Given the description of an element on the screen output the (x, y) to click on. 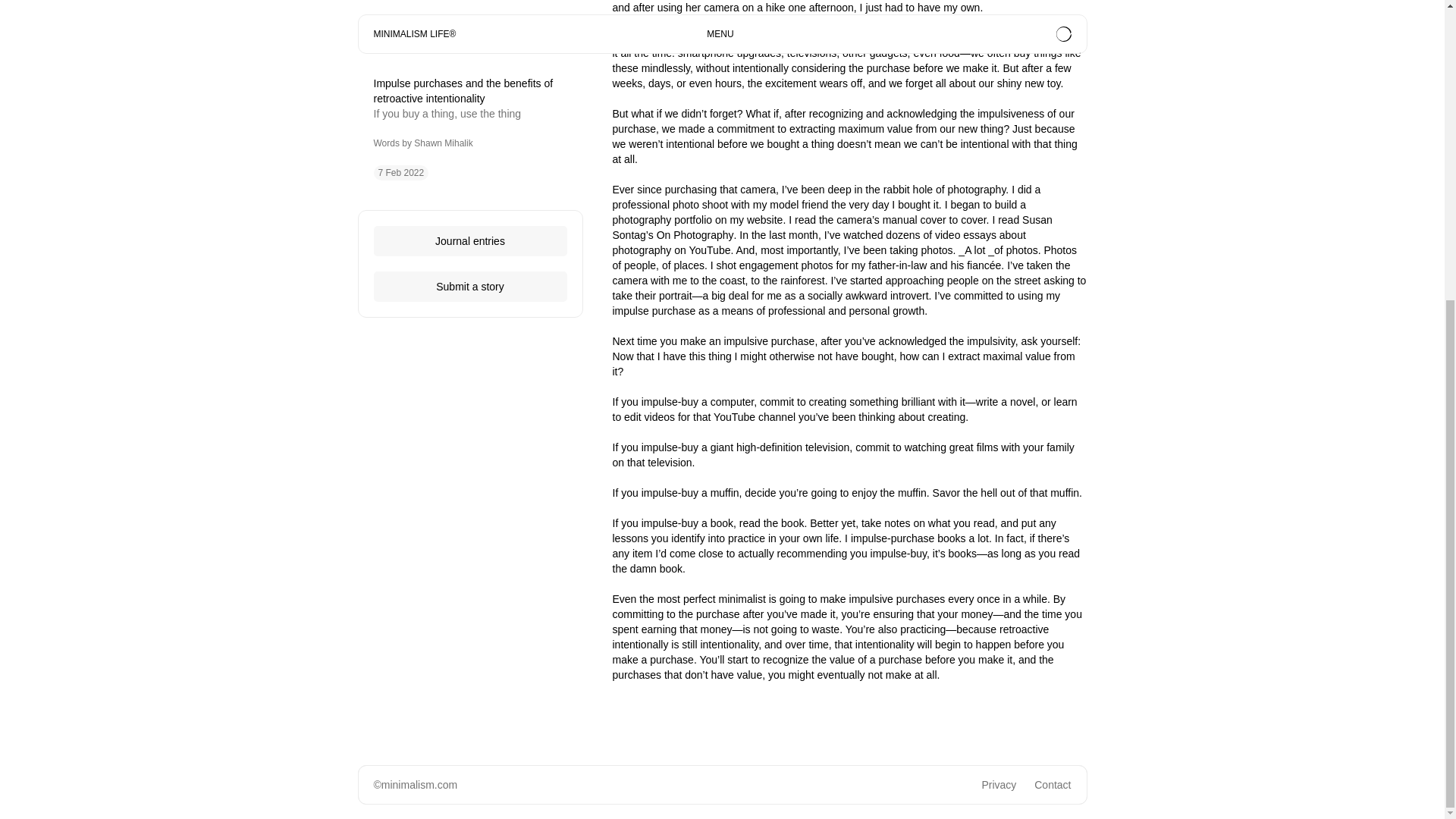
Manifesto (919, 318)
Newsletter (855, 318)
Contact (1051, 784)
Threads (454, 318)
Instagram (396, 318)
Facebook (512, 318)
Advisors (1050, 318)
Privacy (998, 784)
Contributors (986, 318)
